Given the description of an element on the screen output the (x, y) to click on. 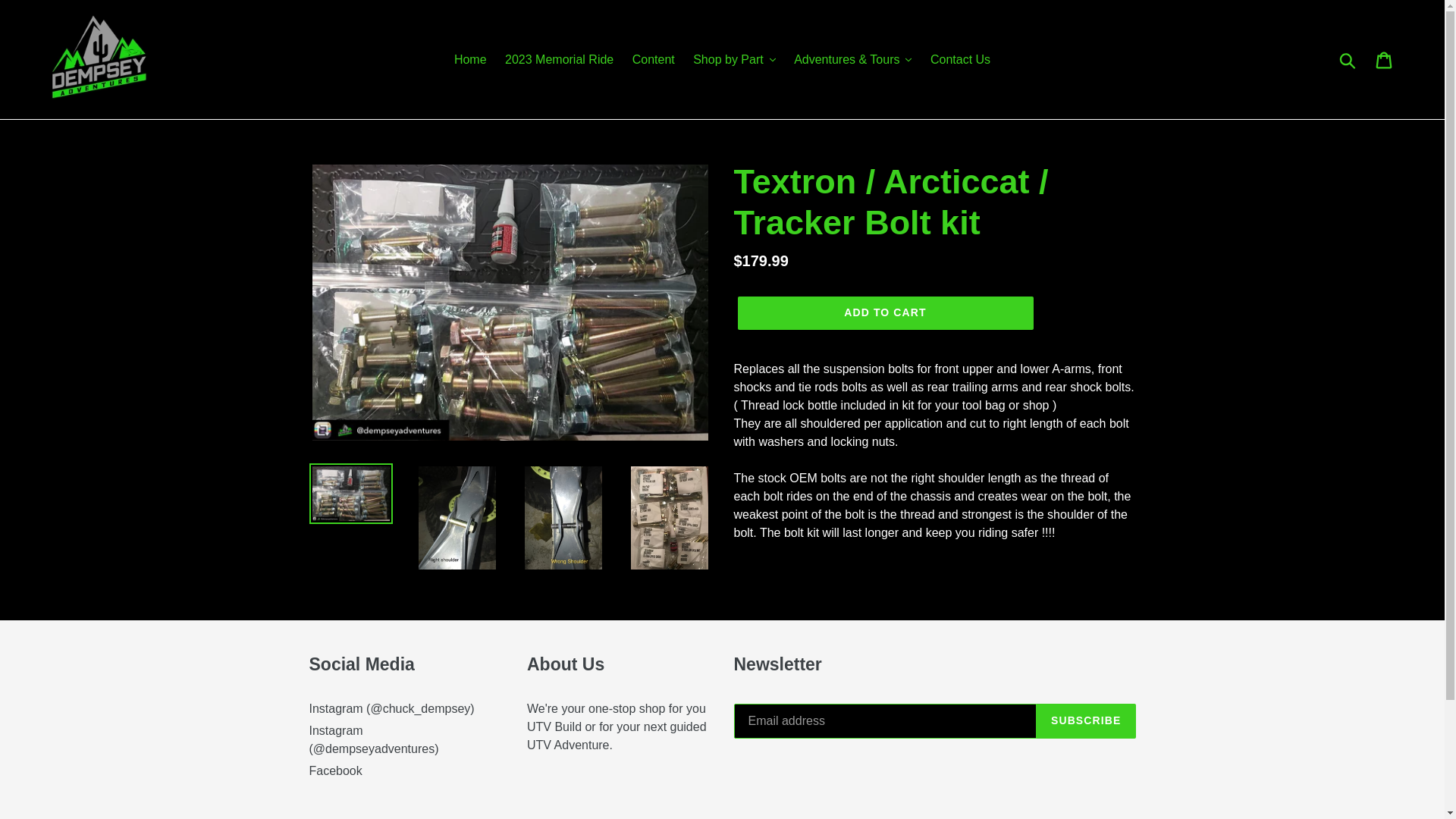
Home (470, 59)
Cart (1385, 59)
Contact Us (960, 59)
Submit (1348, 59)
2023 Memorial Ride (559, 59)
Content (653, 59)
